Given the description of an element on the screen output the (x, y) to click on. 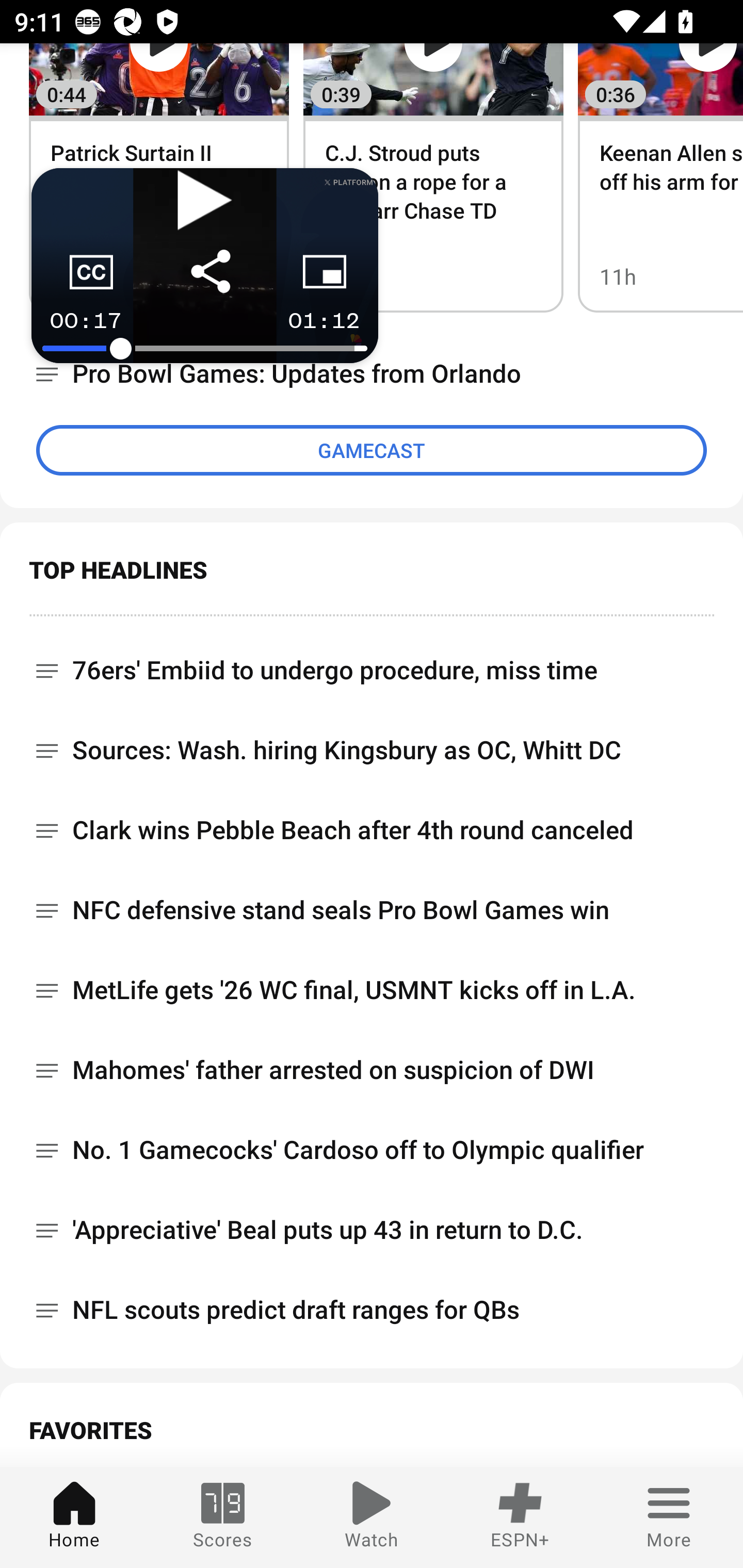
 Pro Bowl Games: Updates from Orlando (371, 373)
GAMECAST (371, 449)
 76ers' Embiid to undergo procedure, miss time (371, 663)
 Sources: Wash. hiring Kingsbury as OC, Whitt DC (371, 750)
 Clark wins Pebble Beach after 4th round canceled (371, 830)
 NFC defensive stand seals Pro Bowl Games win (371, 910)
 Mahomes' father arrested on suspicion of DWI (371, 1070)
 'Appreciative' Beal puts up 43 in return to D.C. (371, 1230)
 NFL scouts predict draft ranges for QBs (371, 1310)
Scores (222, 1517)
Watch (371, 1517)
ESPN+ (519, 1517)
More (668, 1517)
